Given the description of an element on the screen output the (x, y) to click on. 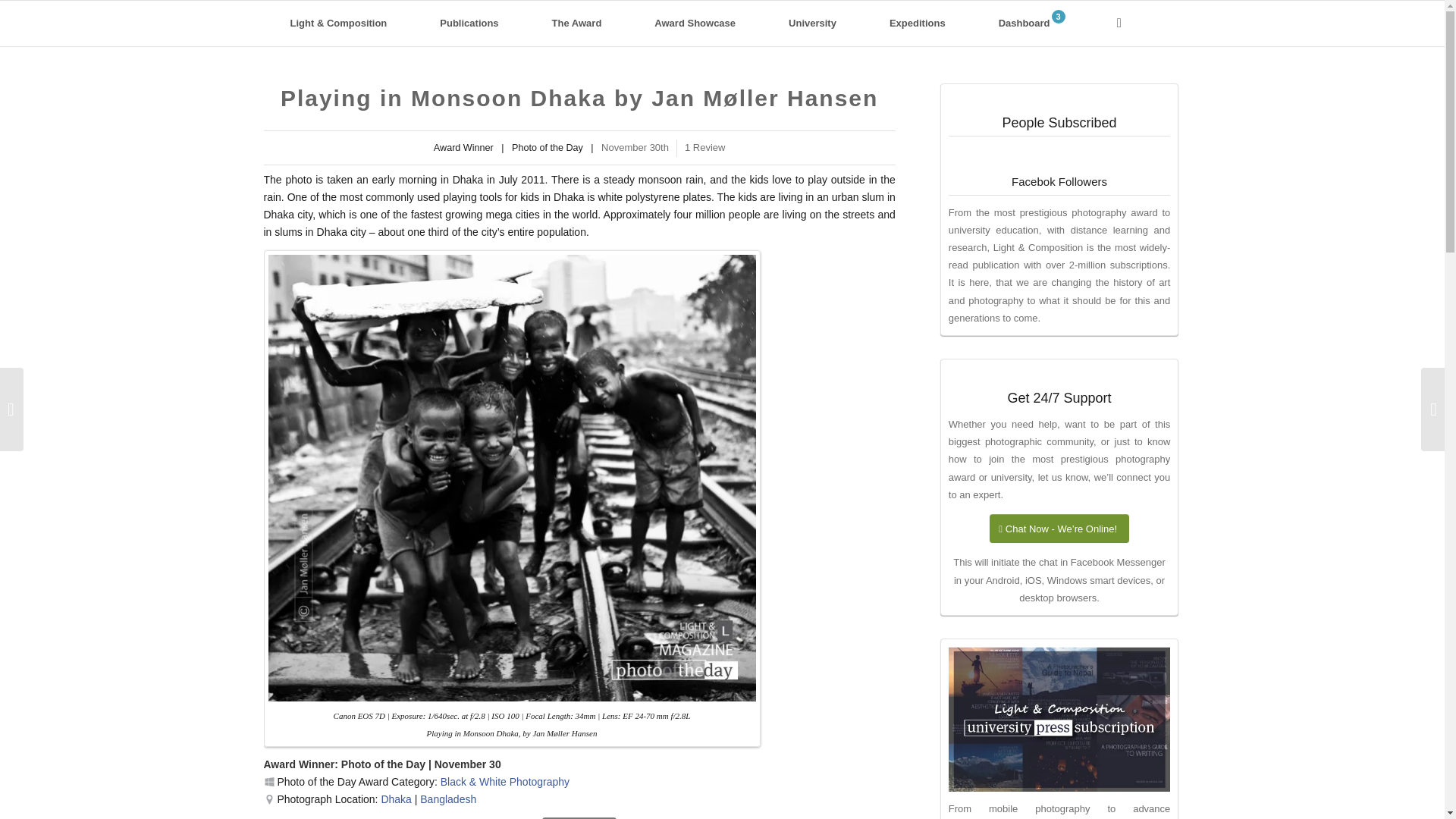
1 Review (704, 147)
University (812, 22)
Dashboard (1031, 22)
The Award (576, 22)
November (459, 764)
Bangladesh (448, 799)
Click to Get Registered (578, 818)
Dhaka (395, 799)
Award Showcase (694, 22)
Registered (578, 818)
Publications (468, 22)
Photo of the Day (382, 764)
Expeditions (917, 22)
